Given the description of an element on the screen output the (x, y) to click on. 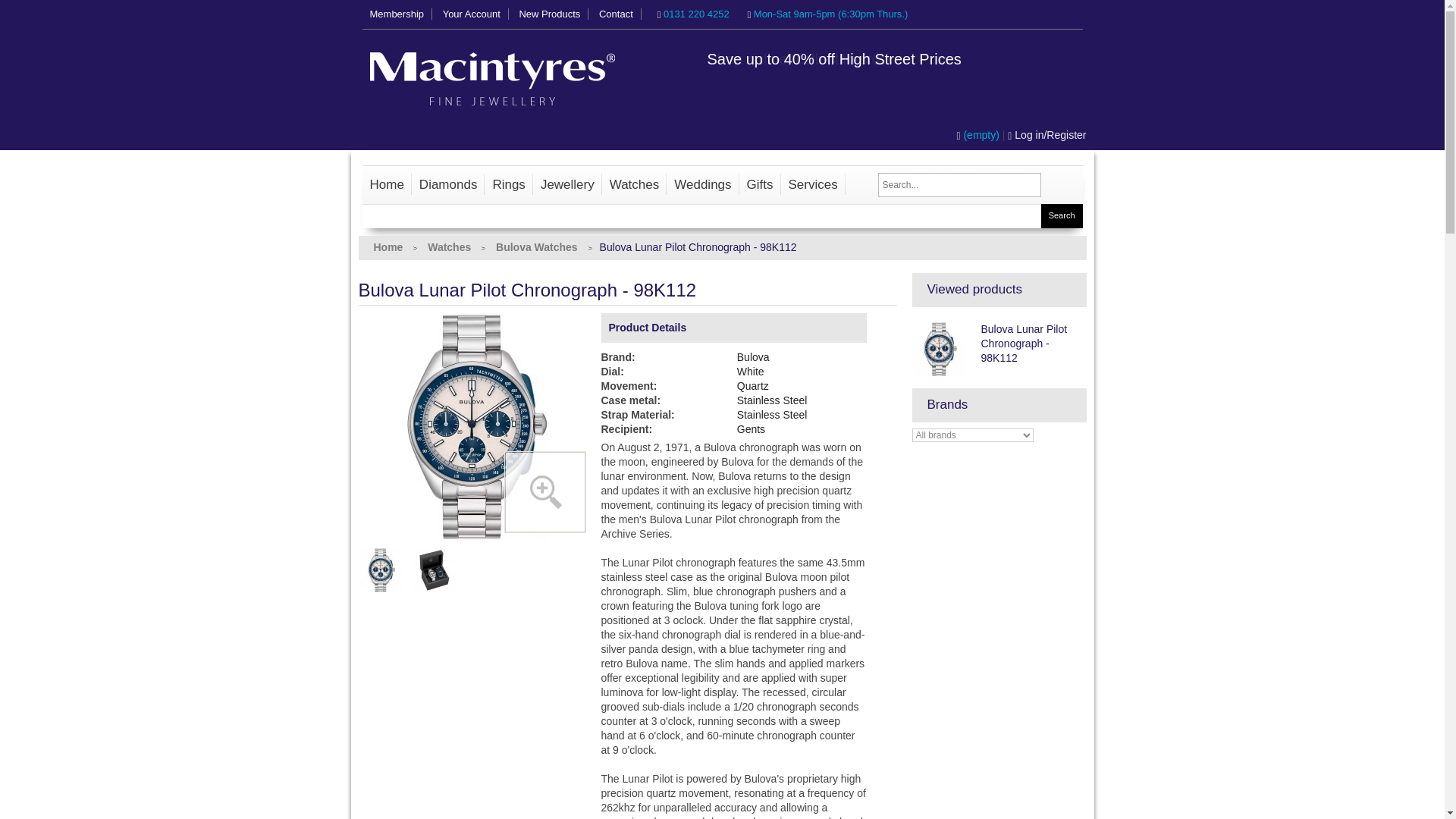
0131 220 4252 (692, 13)
Contact (615, 13)
Call now (692, 13)
Sign in (1046, 134)
Your Account (471, 13)
Macintyres of Edinburgh (494, 86)
New Products (549, 13)
Membership (397, 13)
Membership Info (397, 13)
View my shopping cart (978, 134)
